Given the description of an element on the screen output the (x, y) to click on. 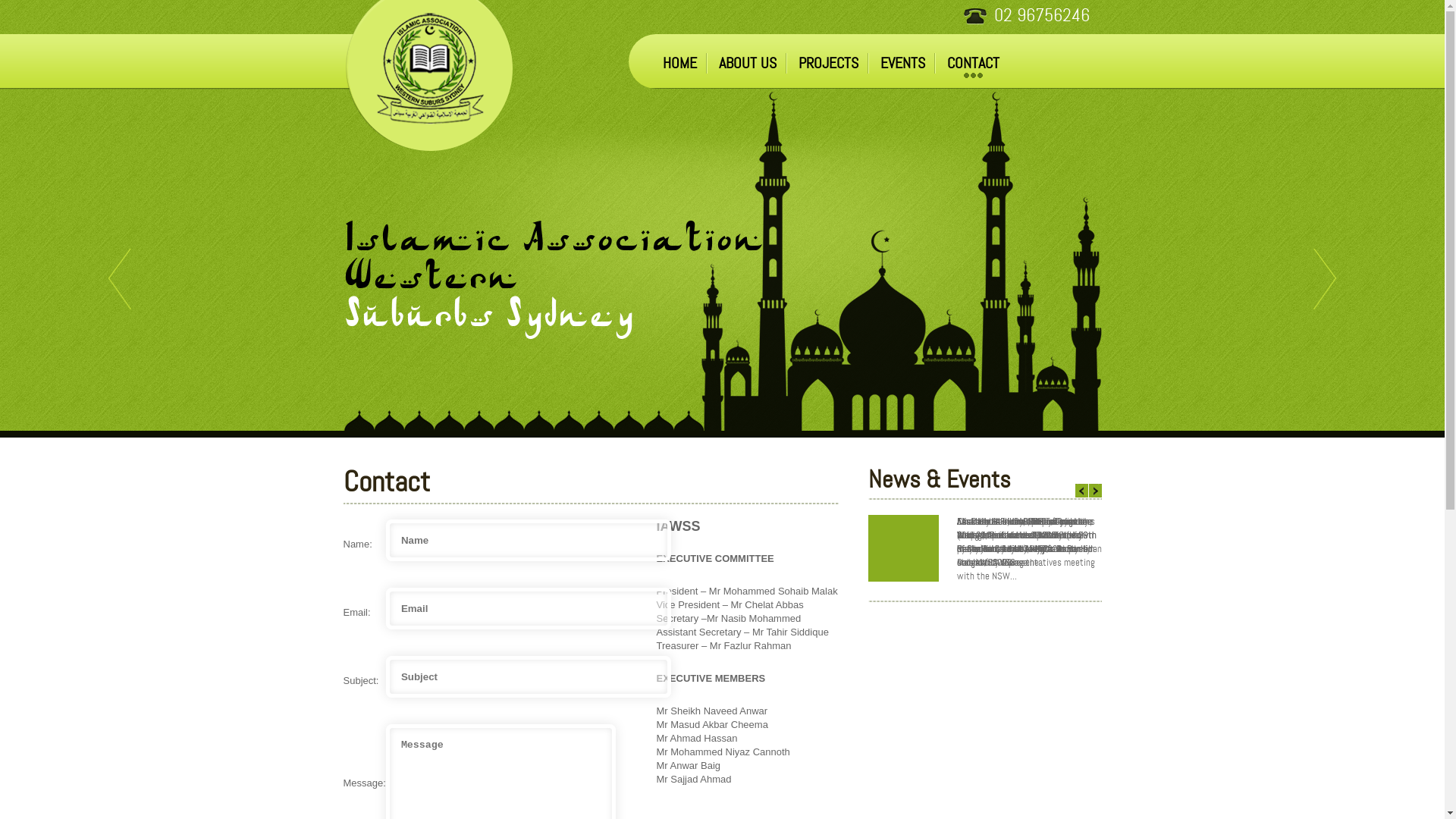
Next Element type: text (1324, 278)
Previous Element type: text (1088, 490)
ABOUT US Element type: text (747, 62)
Next Element type: text (1111, 490)
PROJECTS Element type: text (827, 62)
EVENTS Element type: text (902, 62)
Previous Element type: text (119, 278)
News & Events Element type: text (984, 483)
CONTACT Element type: text (972, 62)
HOME Element type: text (679, 62)
